Given the description of an element on the screen output the (x, y) to click on. 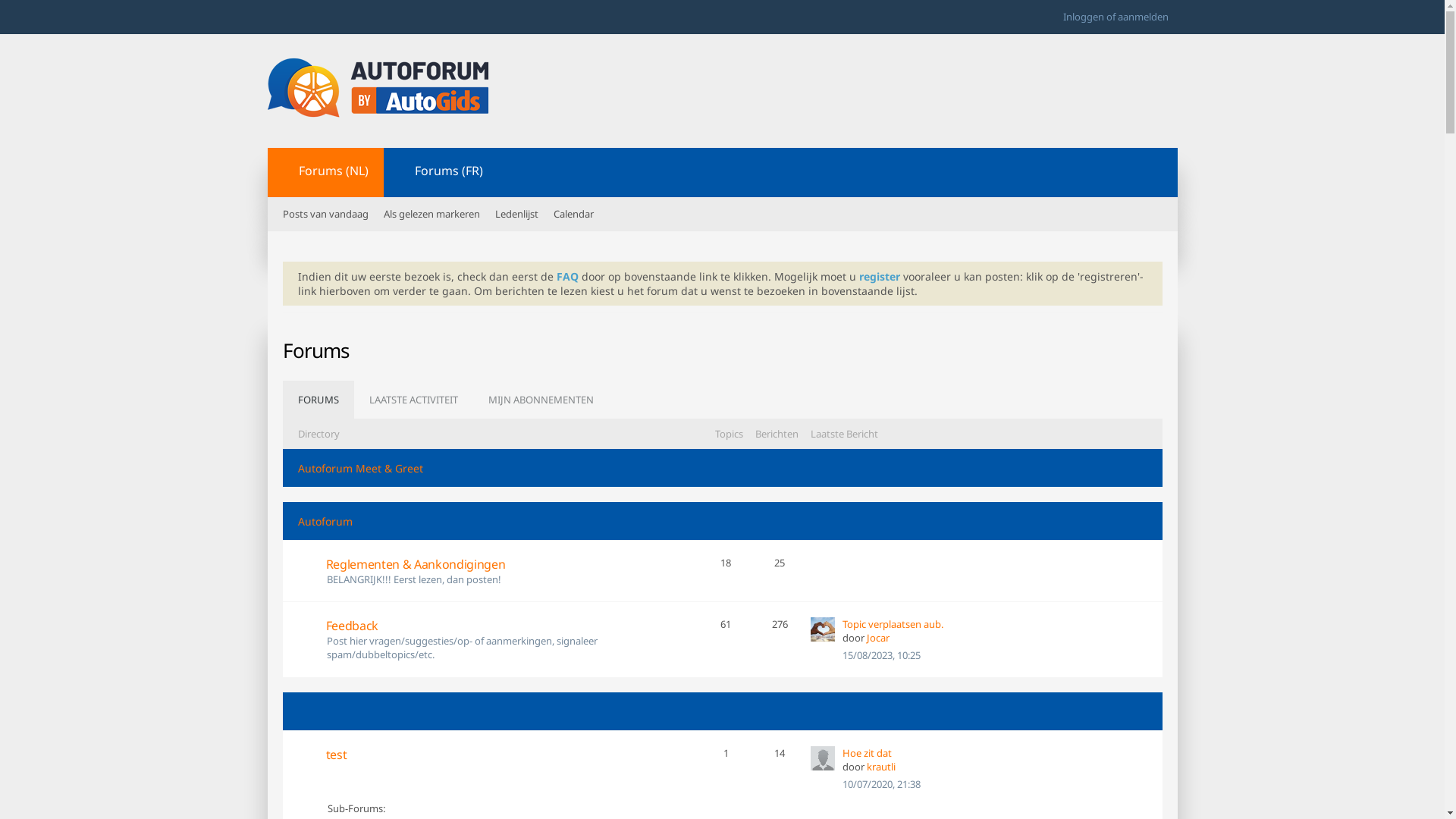
Ledenlijst Element type: text (515, 214)
Forums (FR) Element type: text (440, 172)
Bevat ongelezen berichten Element type: hover (308, 758)
Autoforum Meet & Greet Element type: text (359, 468)
test Element type: text (482, 754)
LAATSTE ACTIVITEIT Element type: text (412, 399)
Jocar Element type: hover (822, 629)
View this channel's RSS feed. Element type: hover (397, 353)
register Element type: text (878, 276)
Jocar Element type: text (877, 637)
Calendar Element type: text (573, 214)
FORUMS Element type: text (317, 399)
Powered by vBulletin Element type: hover (378, 87)
Bevat ongelezen berichten Element type: hover (308, 568)
Posts van vandaag Element type: text (324, 214)
Reglementen & Aankondigingen Element type: text (482, 563)
Als gelezen markeren Element type: text (431, 214)
Forums (NL) Element type: text (324, 172)
Hoe zit dat Element type: text (866, 752)
View this forum's RSS feed. Element type: hover (697, 626)
MIJN ABONNEMENTEN Element type: text (540, 399)
View this forum's RSS feed. Element type: hover (697, 755)
FAQ Element type: text (567, 276)
View this forum's RSS feed. Element type: hover (697, 564)
krautli Element type: text (880, 766)
Bevat ongelezen berichten Element type: hover (308, 629)
Topic verplaatsen aub. Element type: text (892, 623)
krautli Element type: hover (822, 758)
Autoforum Element type: text (324, 521)
Feedback Element type: text (482, 625)
